Given the description of an element on the screen output the (x, y) to click on. 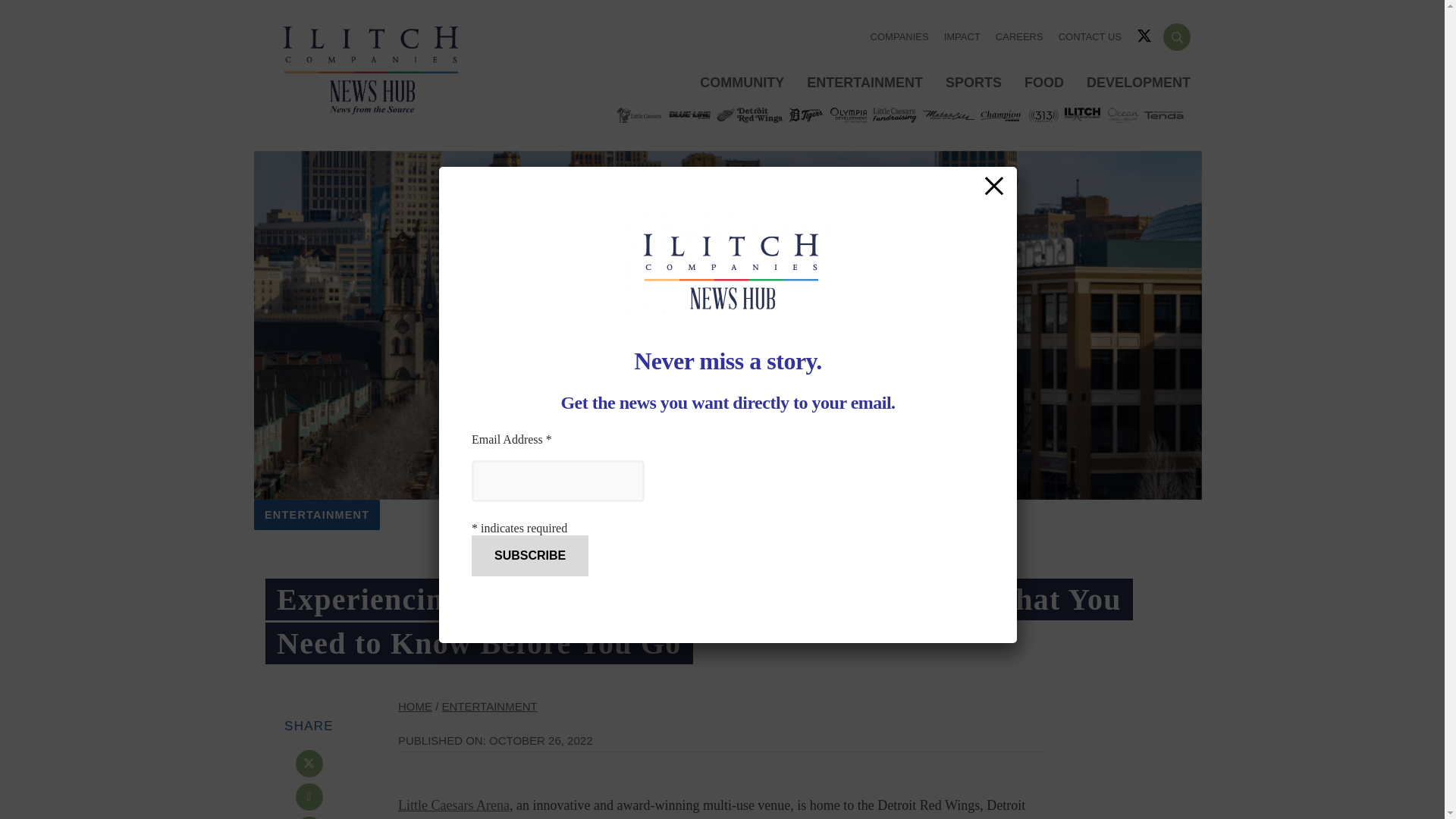
COMPANIES (899, 36)
FOOD (1044, 83)
CONTACT US (1089, 36)
COMMUNITY (741, 83)
CAREERS (1019, 36)
Subscribe (529, 555)
DEVELOPMENT (1138, 83)
ENTERTAINMENT (317, 514)
ENTERTAINMENT (864, 83)
HOME (414, 706)
SPORTS (973, 83)
ENTERTAINMENT (489, 706)
IMPACT (961, 36)
Little Caesars Arena (453, 805)
